Given the description of an element on the screen output the (x, y) to click on. 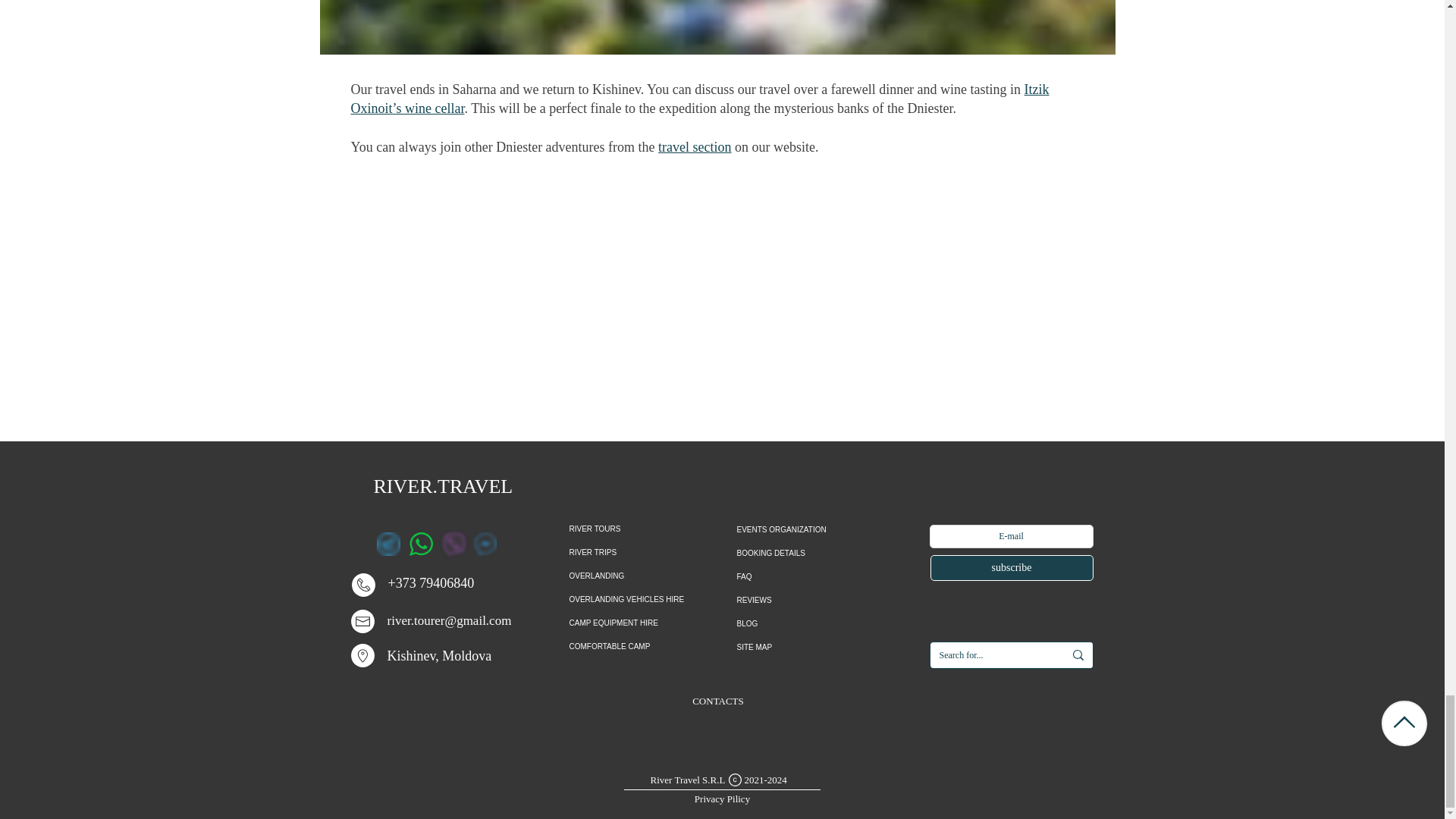
CAMP EQUIPMENT HIRE (642, 622)
BOOKING DETAILS (818, 553)
REVIEWS (818, 599)
travel section (694, 146)
FAQ (818, 576)
COMFORTABLE CAMP (642, 646)
BLOG (818, 623)
SITE MAP (818, 647)
RIVER TRIPS (642, 552)
subscribe (1011, 567)
